Given the description of an element on the screen output the (x, y) to click on. 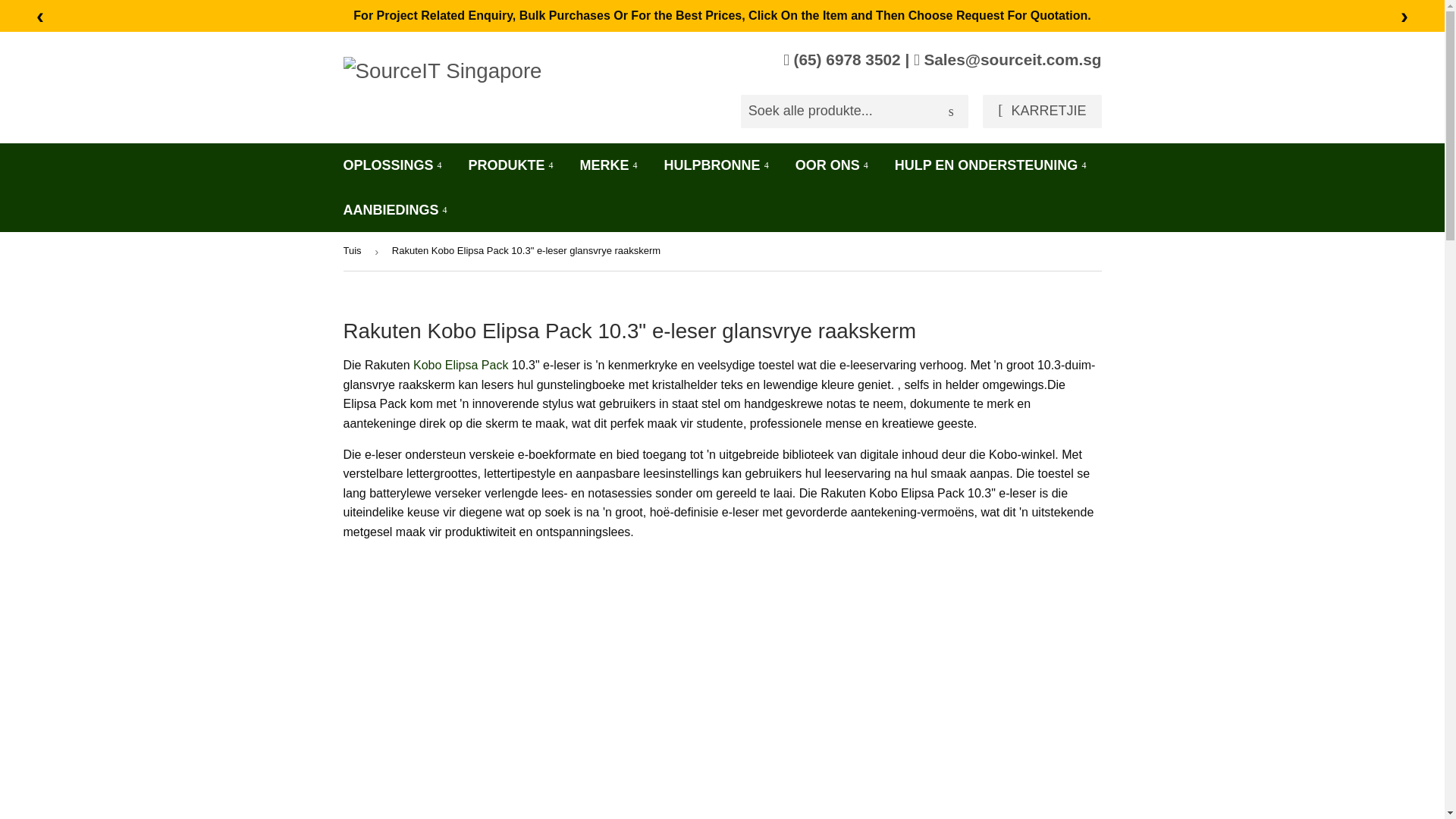
KARRETJIE (1041, 111)
Terug na die voorblad (354, 251)
Soek (951, 111)
